Given the description of an element on the screen output the (x, y) to click on. 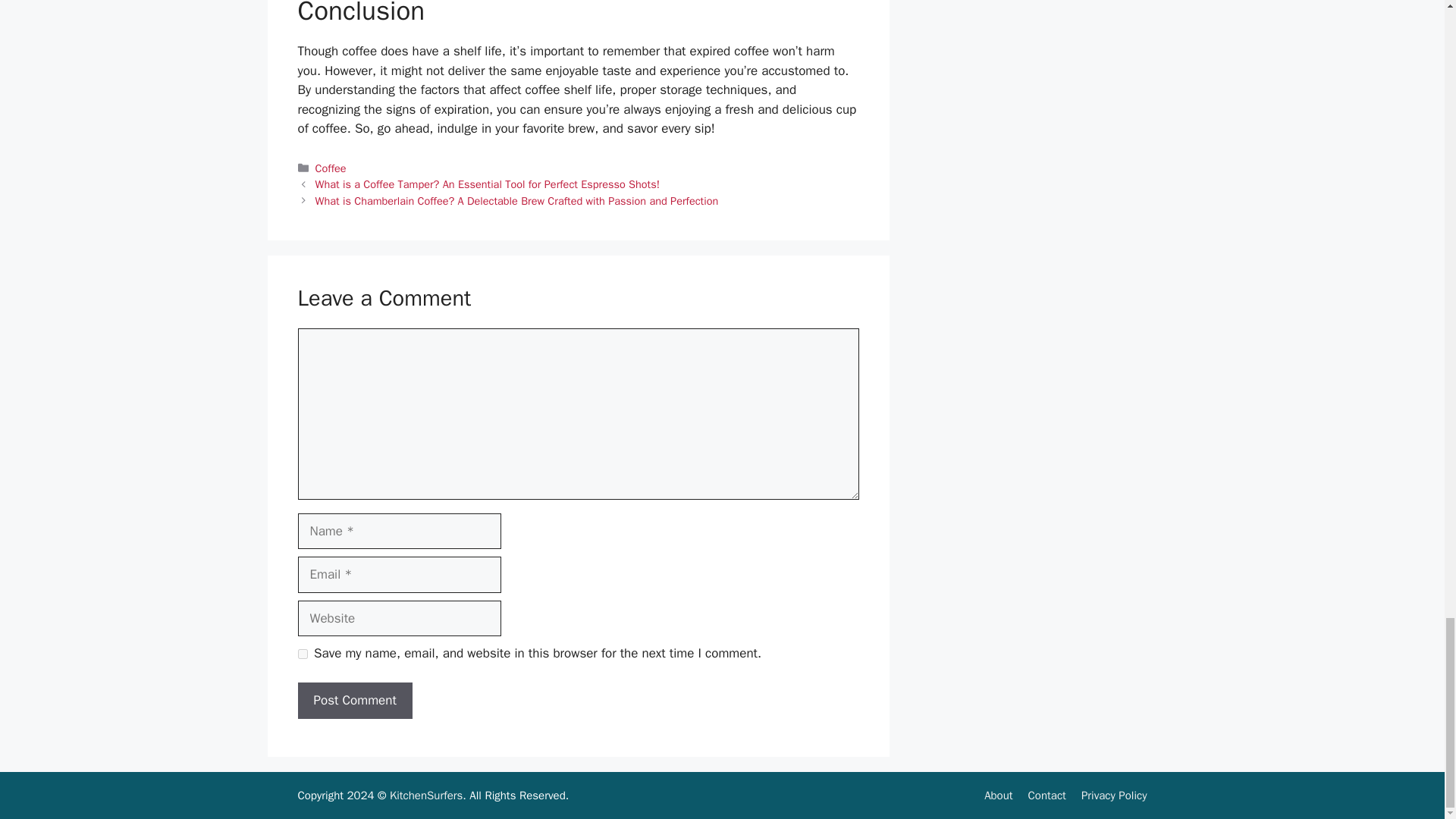
About (997, 795)
Contact (1046, 795)
Privacy Policy (1114, 795)
Coffee (330, 168)
yes (302, 654)
Post Comment (354, 700)
Post Comment (354, 700)
